Given the description of an element on the screen output the (x, y) to click on. 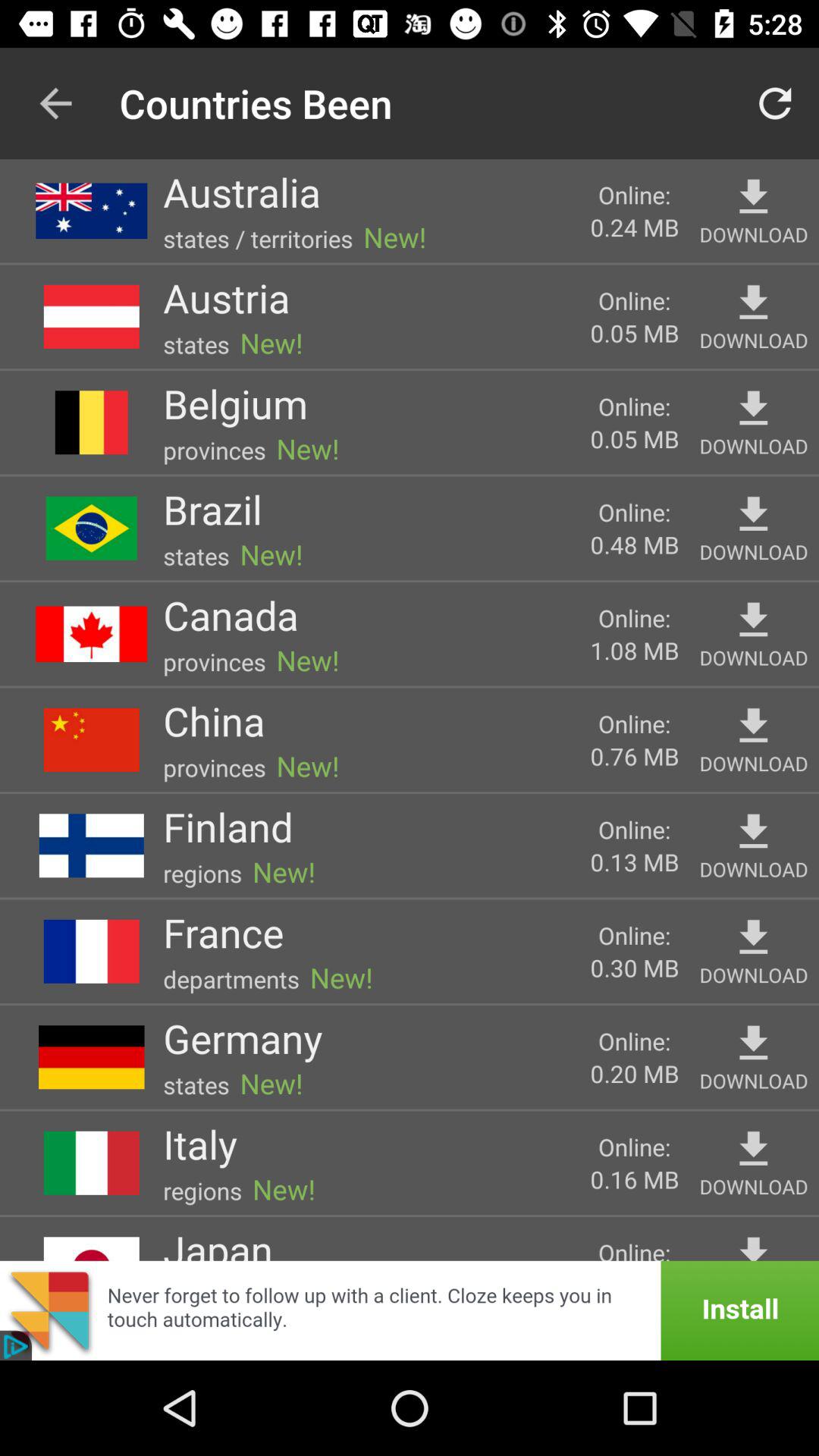
download this item (753, 726)
